Given the description of an element on the screen output the (x, y) to click on. 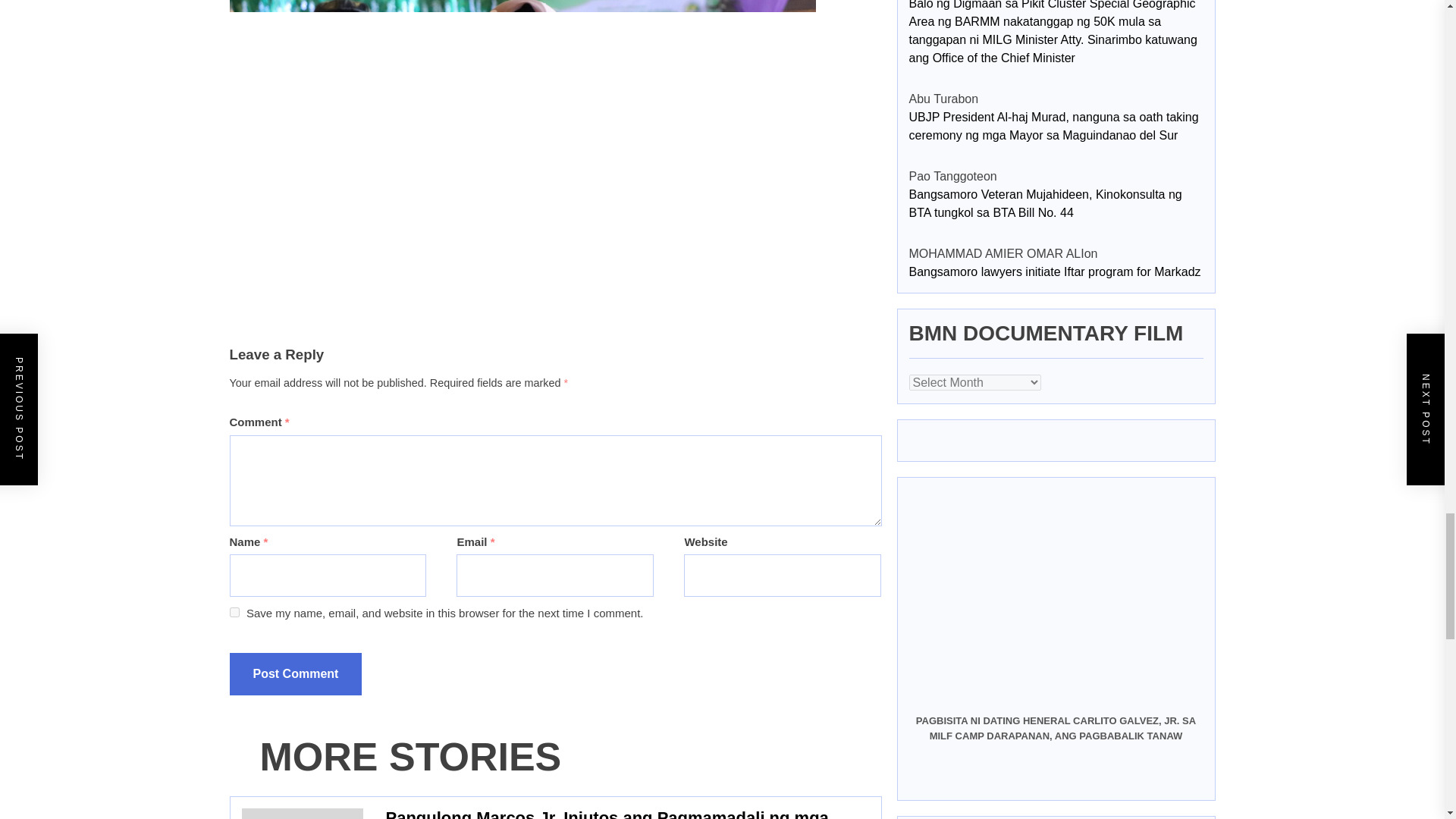
Post Comment (294, 673)
yes (233, 612)
